Given the description of an element on the screen output the (x, y) to click on. 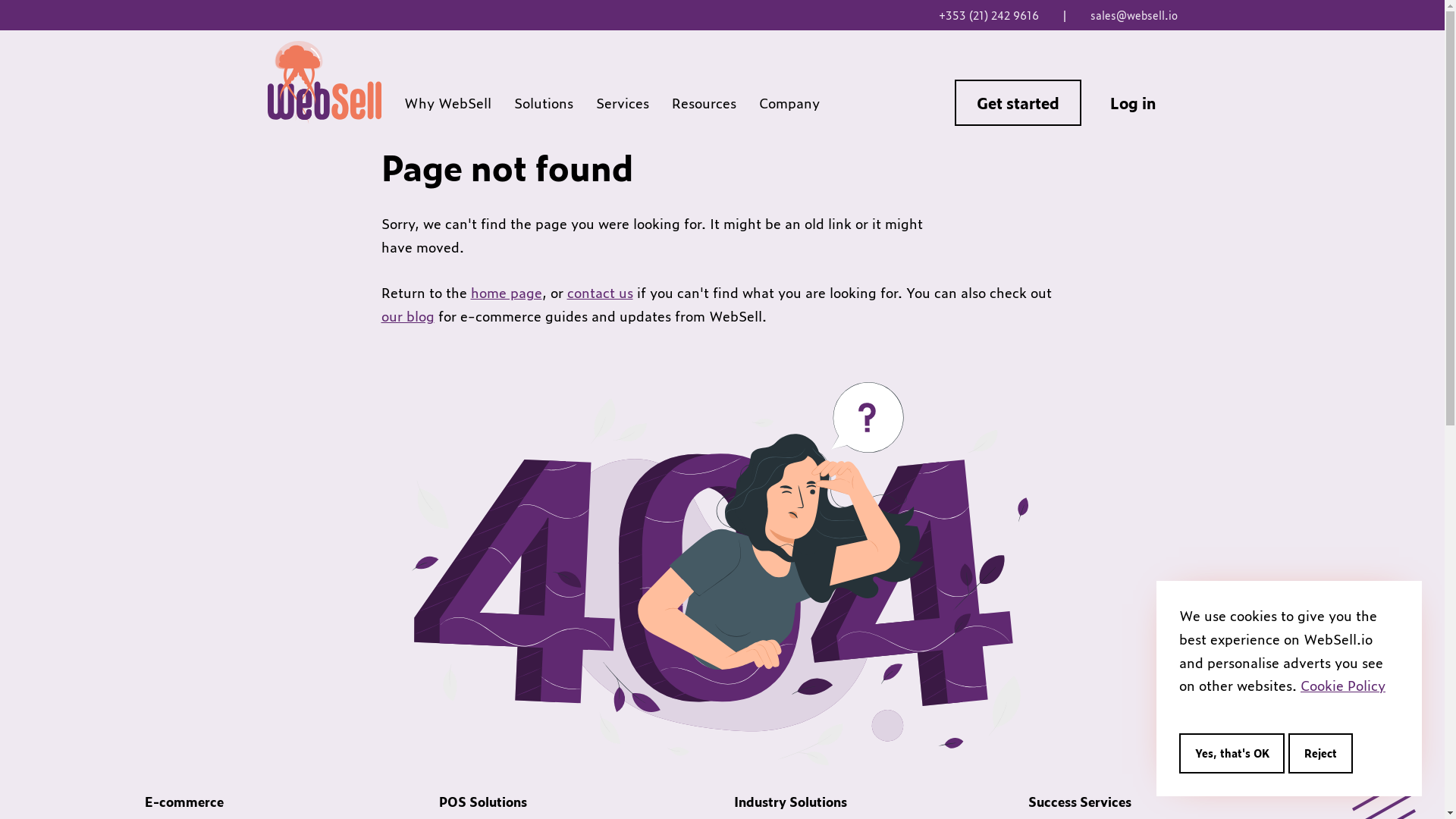
Company Element type: text (788, 102)
Cookie Policy Element type: text (1342, 684)
+353 (21) 242 9616 Element type: text (988, 14)
Why WebSell Element type: text (446, 102)
sales@websell.io Element type: text (1133, 14)
Solutions Element type: text (543, 102)
Log in Element type: text (1132, 101)
our blog Element type: text (406, 315)
Resources Element type: text (703, 102)
Yes, that's OK Element type: text (1231, 753)
Reject Element type: text (1320, 753)
Get started Element type: text (1017, 101)
home page Element type: text (505, 291)
Services Element type: text (622, 102)
contact us Element type: text (600, 291)
